Given the description of an element on the screen output the (x, y) to click on. 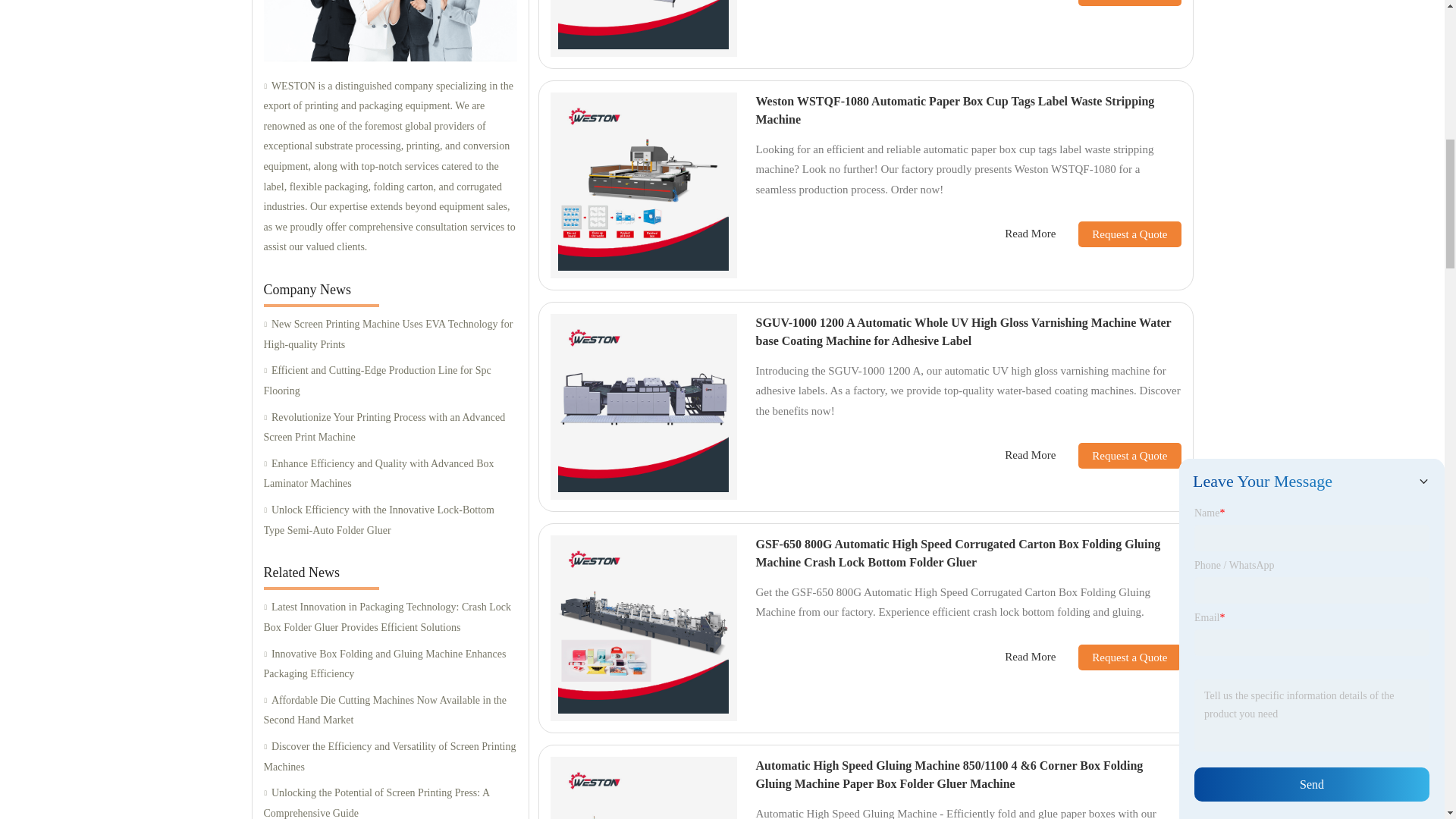
Read More (1029, 0)
Efficient and Cutting-Edge Production Line for Spc Flooring (389, 381)
Request a Quote (1117, 2)
